Given the description of an element on the screen output the (x, y) to click on. 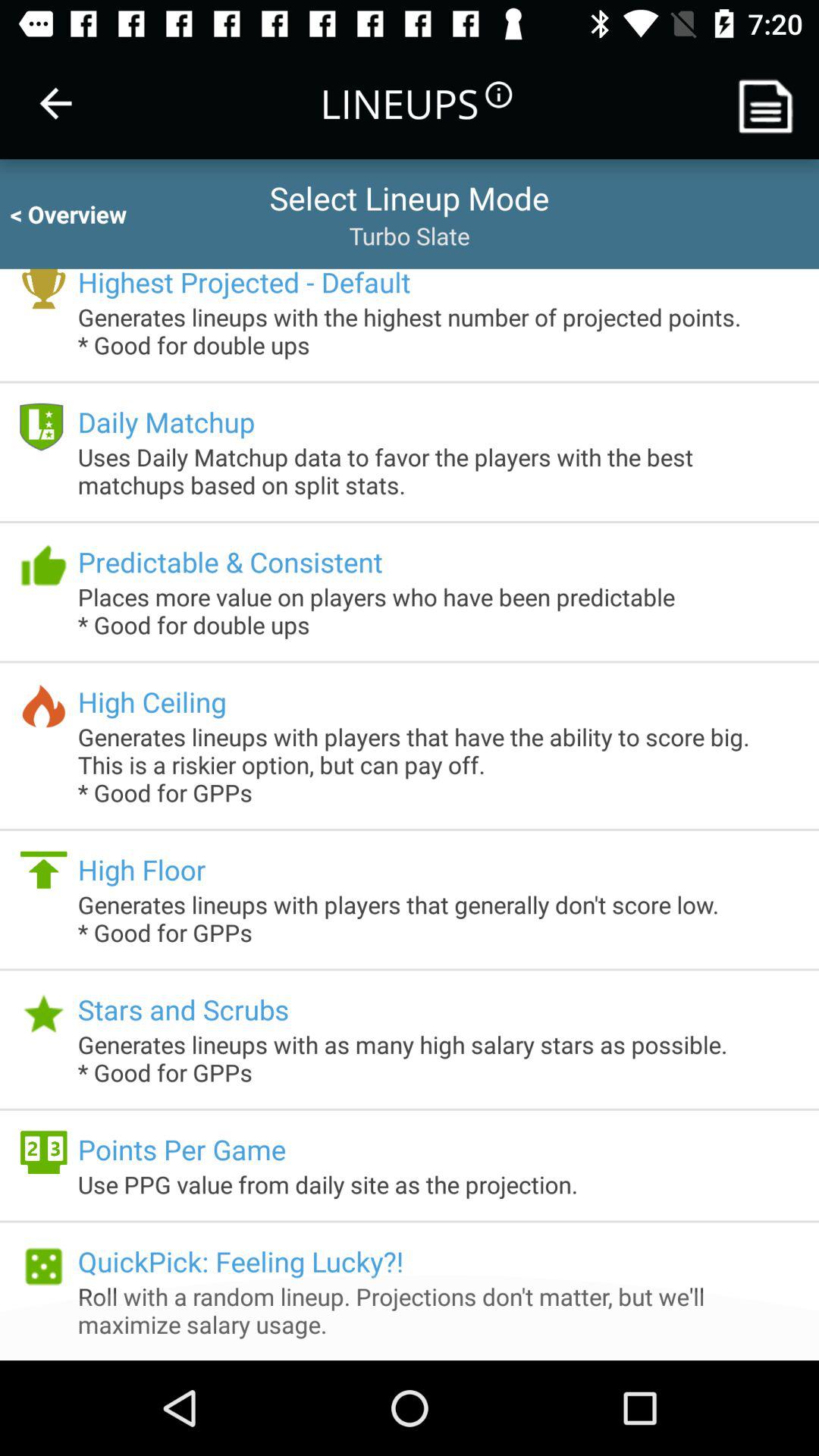
choose item at the top right corner (771, 103)
